Given the description of an element on the screen output the (x, y) to click on. 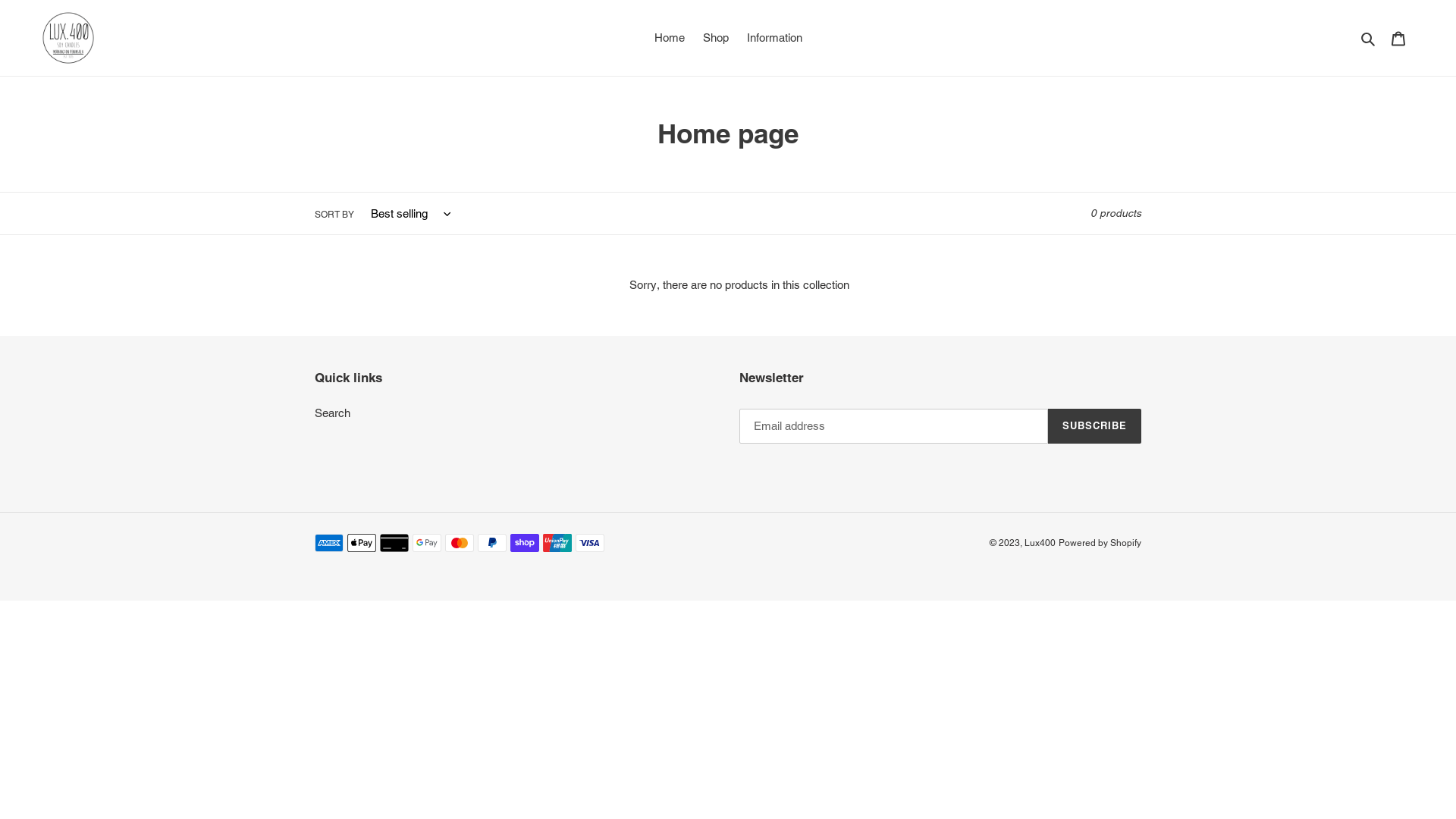
Lux400 Element type: text (1039, 542)
Shop Element type: text (714, 38)
Information Element type: text (773, 38)
Powered by Shopify Element type: text (1099, 542)
Search Element type: text (332, 412)
SUBSCRIBE Element type: text (1094, 425)
Home Element type: text (668, 38)
Cart Element type: text (1398, 37)
Search Element type: text (1368, 37)
